Given the description of an element on the screen output the (x, y) to click on. 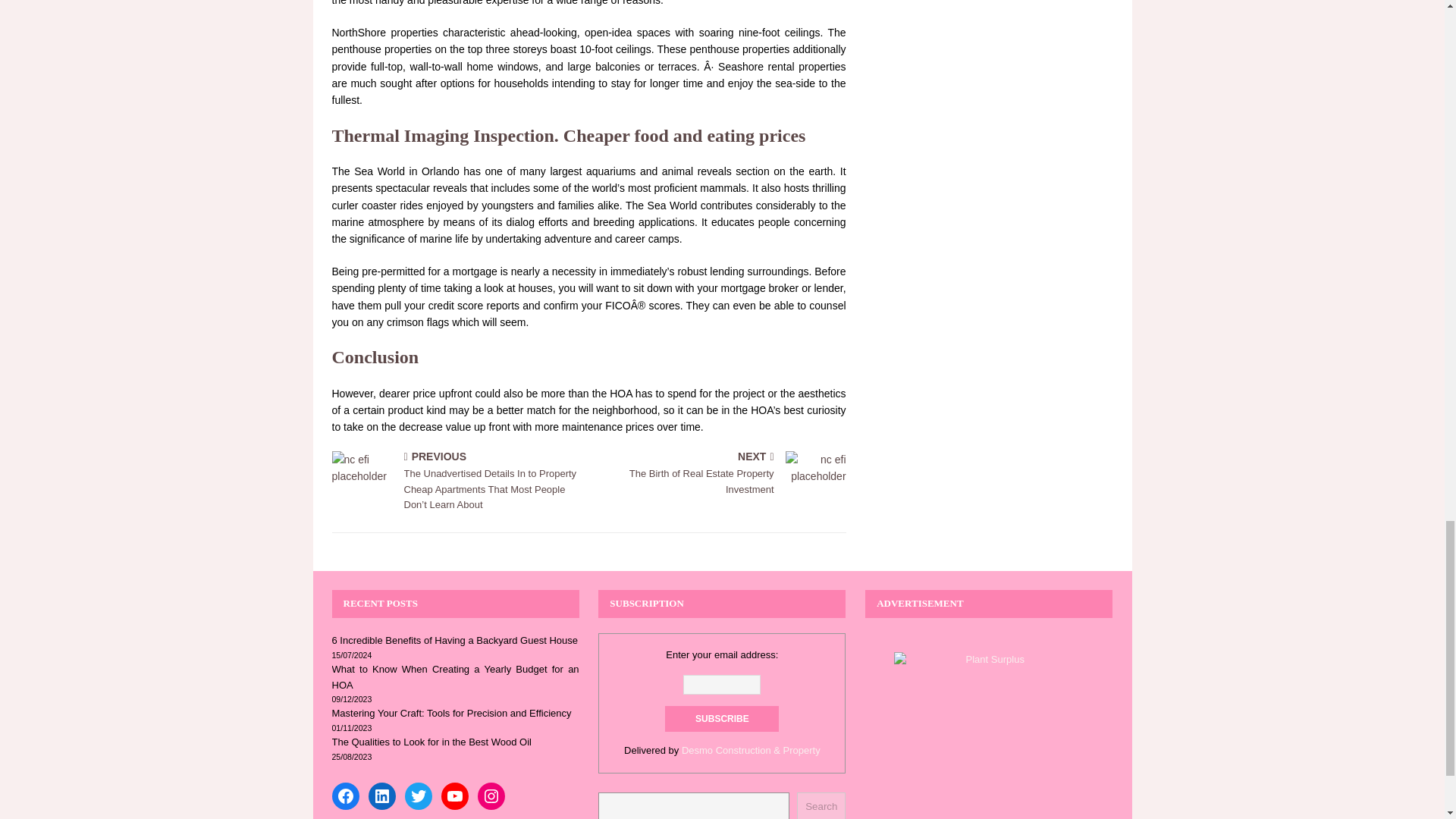
Subscribe (721, 718)
The Birth of Real Estate Property Investment (815, 473)
